Given the description of an element on the screen output the (x, y) to click on. 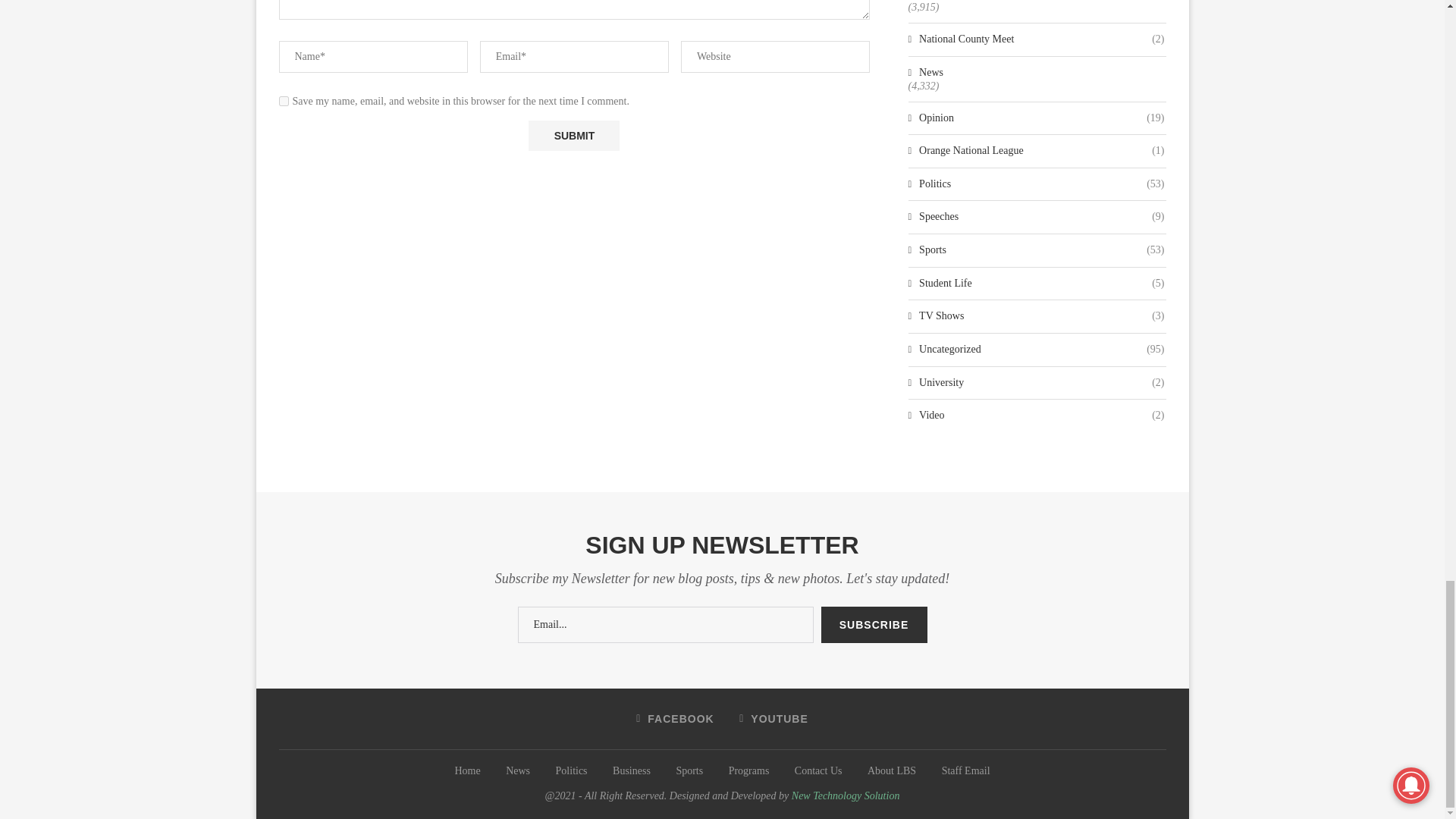
yes (283, 101)
Subscribe (873, 624)
Submit (574, 135)
